Given the description of an element on the screen output the (x, y) to click on. 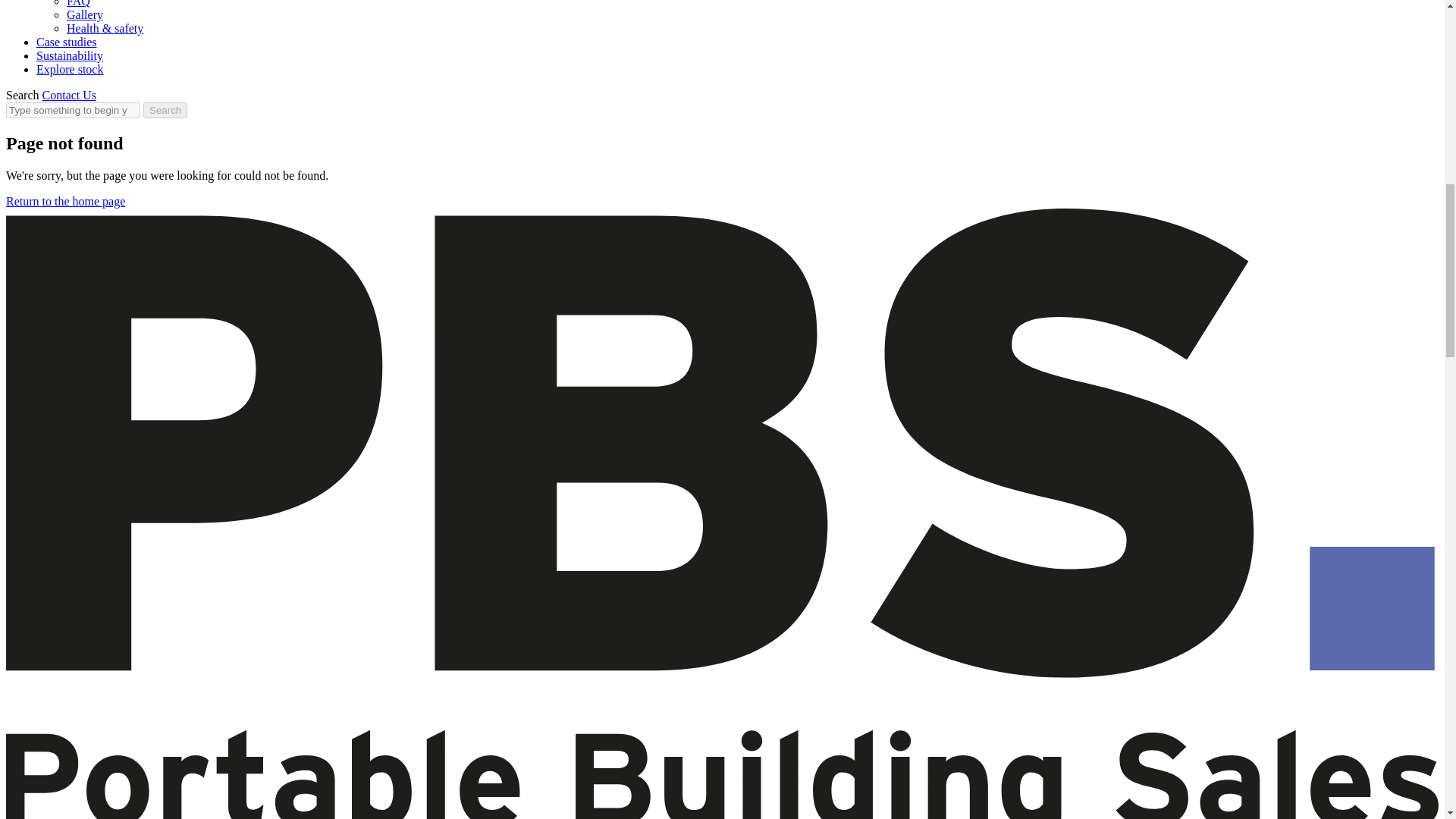
Contact Us (69, 94)
Search (22, 94)
Search (164, 109)
Sustainability (69, 55)
Explore stock (69, 69)
Gallery (84, 14)
Case studies (66, 42)
Return to the home page (65, 201)
FAQ (78, 3)
